Given the description of an element on the screen output the (x, y) to click on. 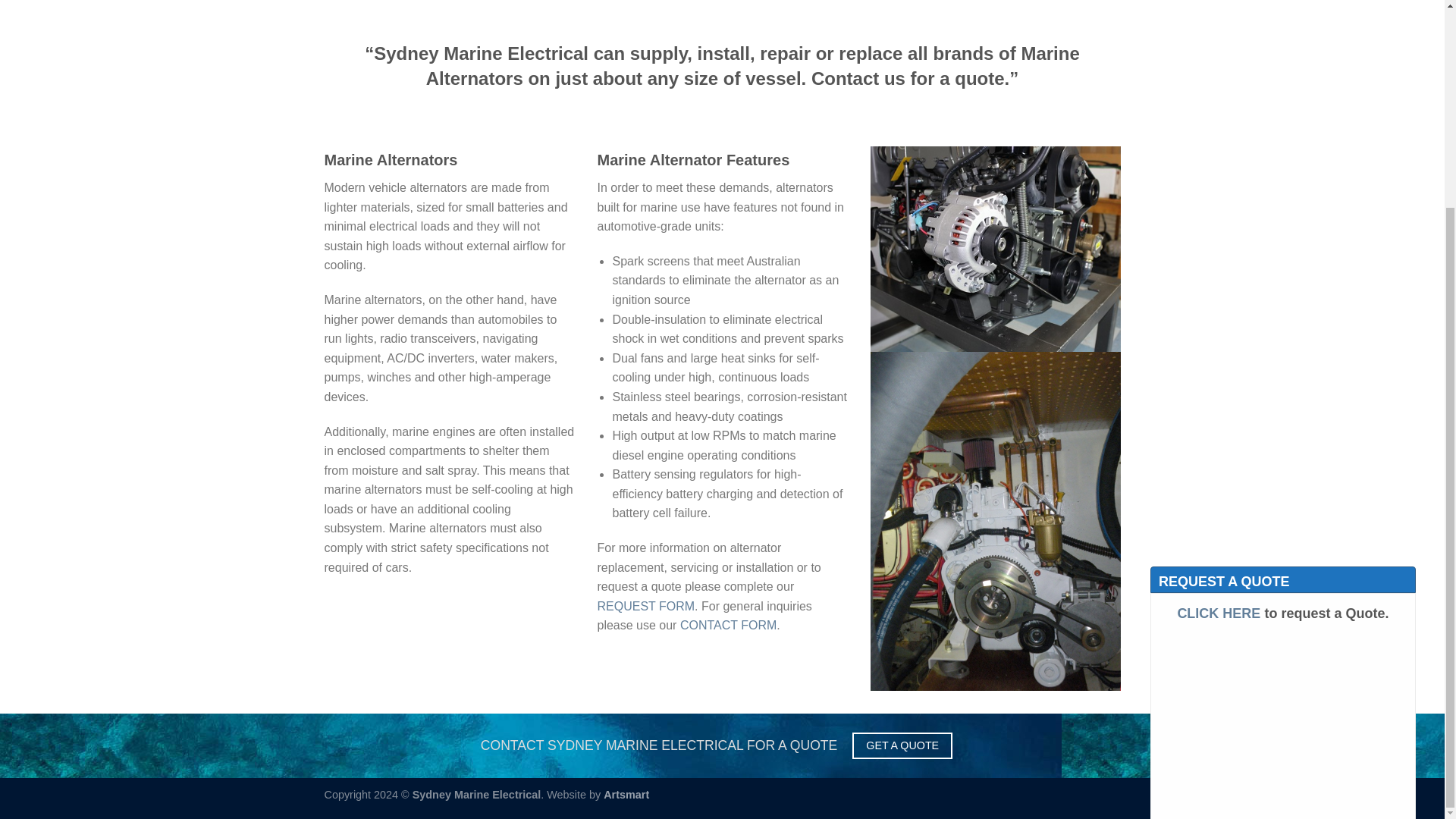
REQUEST FORM (645, 605)
CONTACT FORM (727, 625)
GET A QUOTE (901, 745)
CLICK HERE (1218, 548)
Artsmart (626, 794)
